Given the description of an element on the screen output the (x, y) to click on. 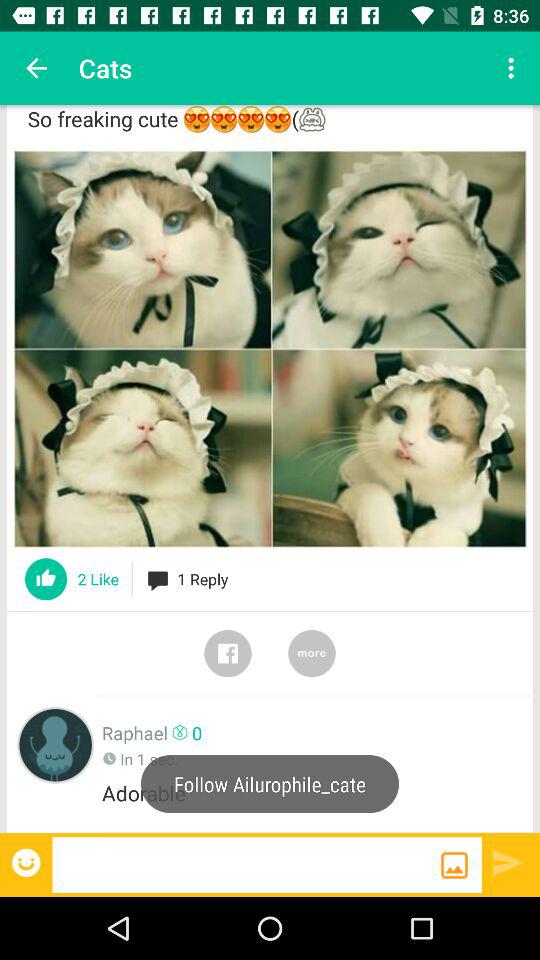
open photo gallery (454, 865)
